Given the description of an element on the screen output the (x, y) to click on. 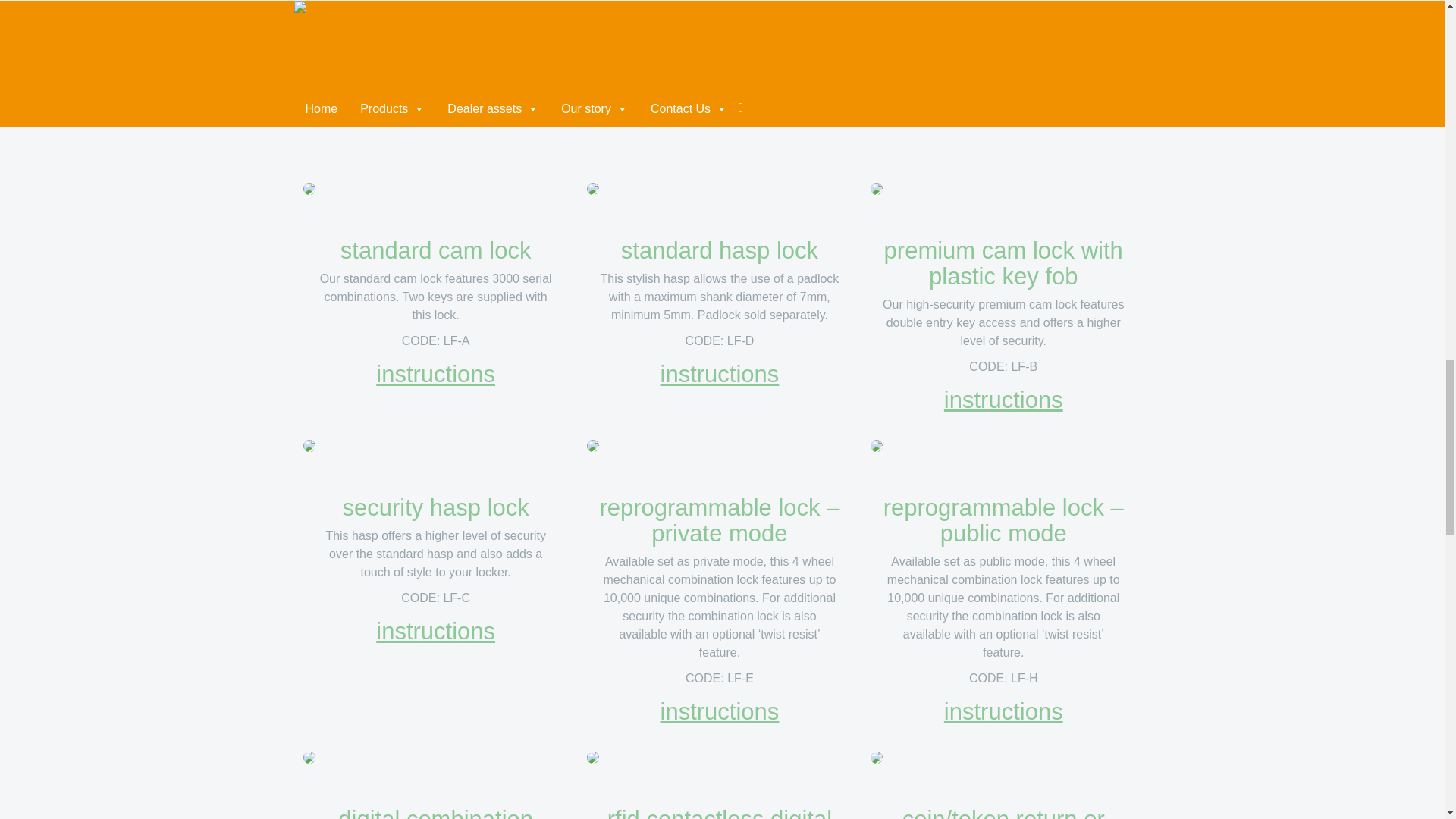
Page 5 (1003, 606)
Page 5 (719, 606)
Page 5 (435, 297)
Page 5 (1003, 322)
Page 5 (719, 297)
Page 5 (435, 554)
